Given the description of an element on the screen output the (x, y) to click on. 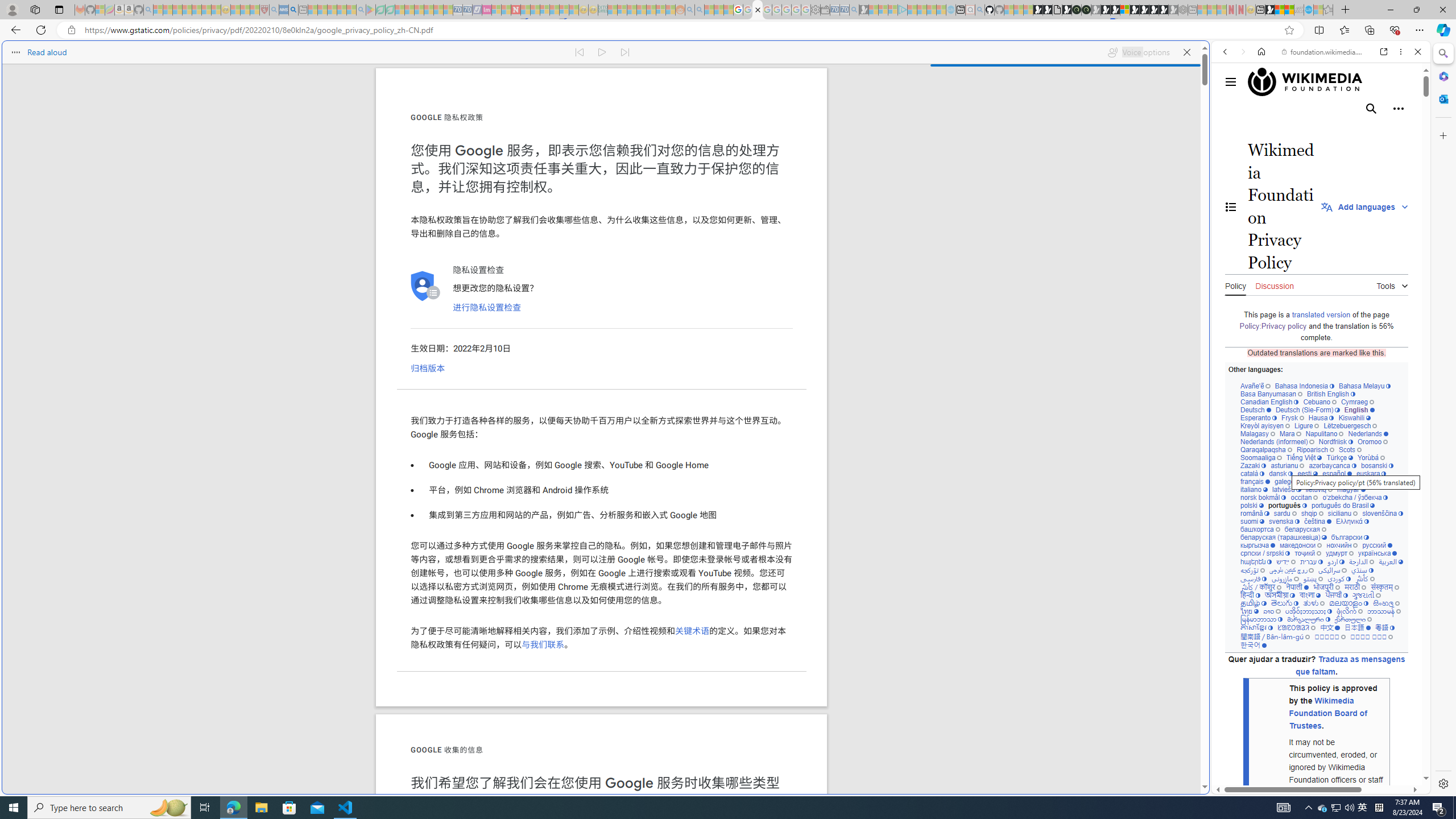
SEARCH TOOLS (1350, 130)
Canadian English (1269, 401)
Main menu (1230, 81)
This site scope (1259, 102)
asturianu (1287, 465)
Play Cave FRVR in your browser | Games from Microsoft Start (922, 242)
Mara (1290, 433)
